Given the description of an element on the screen output the (x, y) to click on. 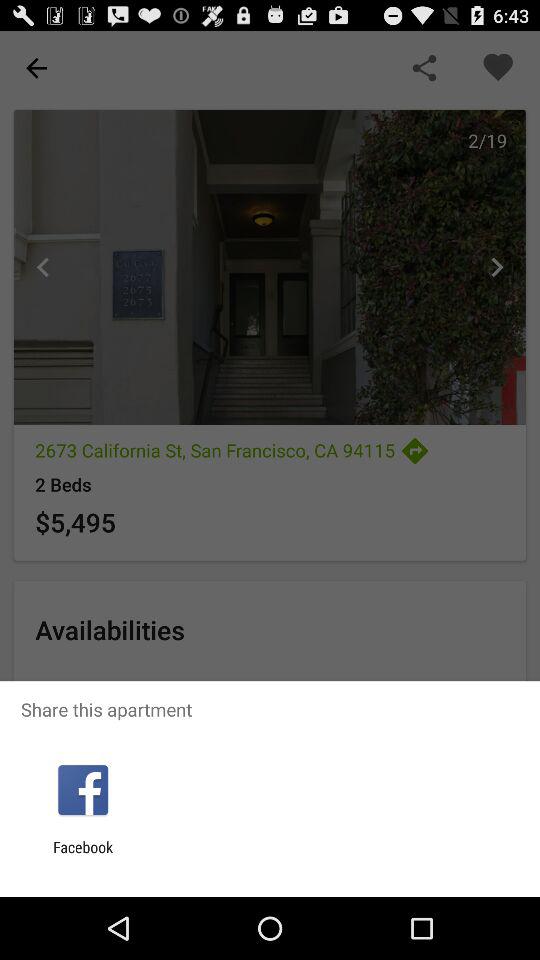
swipe to the facebook icon (83, 856)
